Given the description of an element on the screen output the (x, y) to click on. 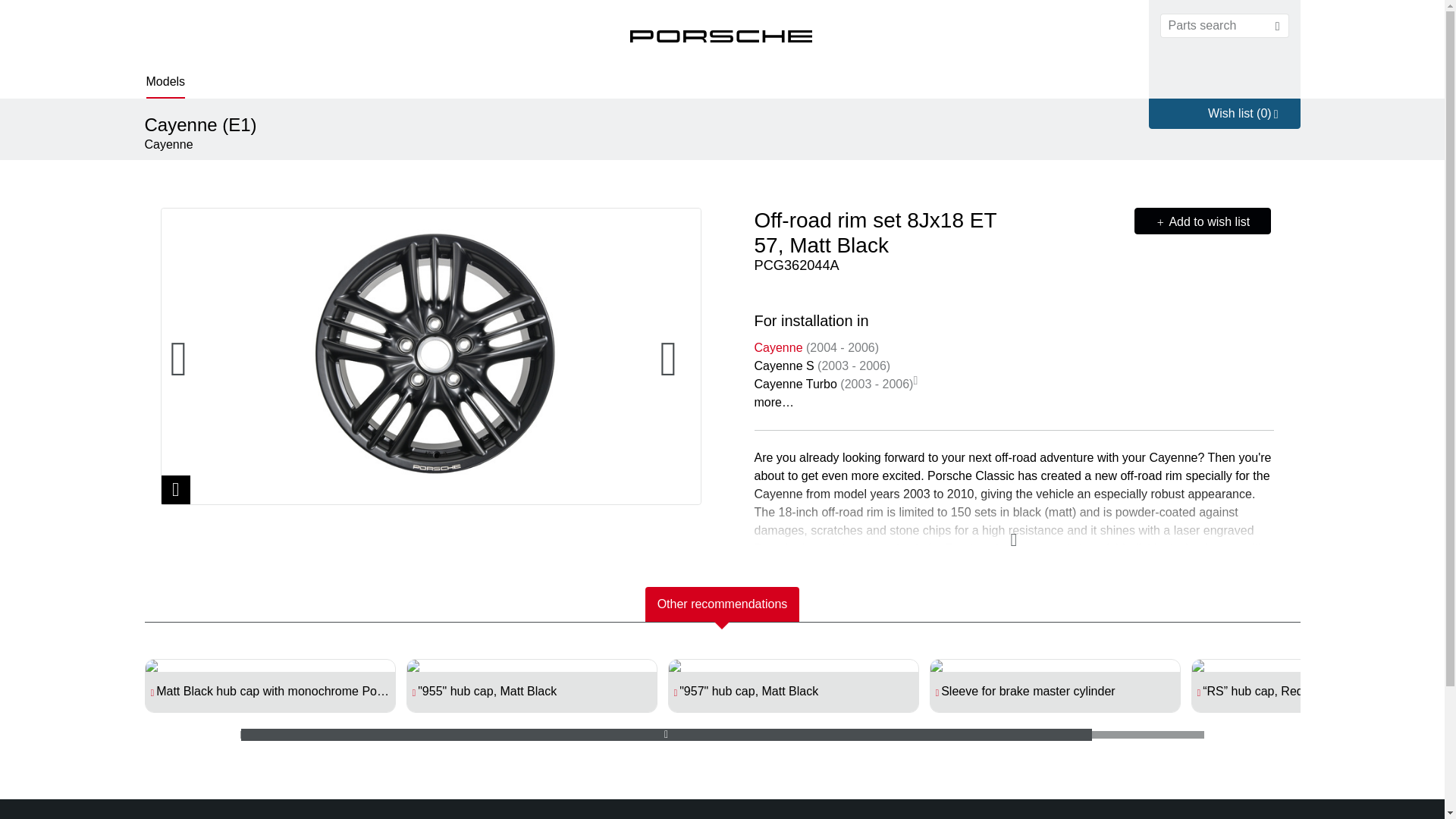
Sleeve for brake master cylinder (1060, 695)
Sleeve for brake master cylinder (1055, 685)
Matt Black hub cap with monochrome Porsche Crest (275, 695)
"955" hub cap, Matt Black (537, 695)
"957" hub cap, Matt Black (797, 695)
Matt Black hub cap with monochrome Porsche Crest (269, 685)
Models (165, 84)
